Given the description of an element on the screen output the (x, y) to click on. 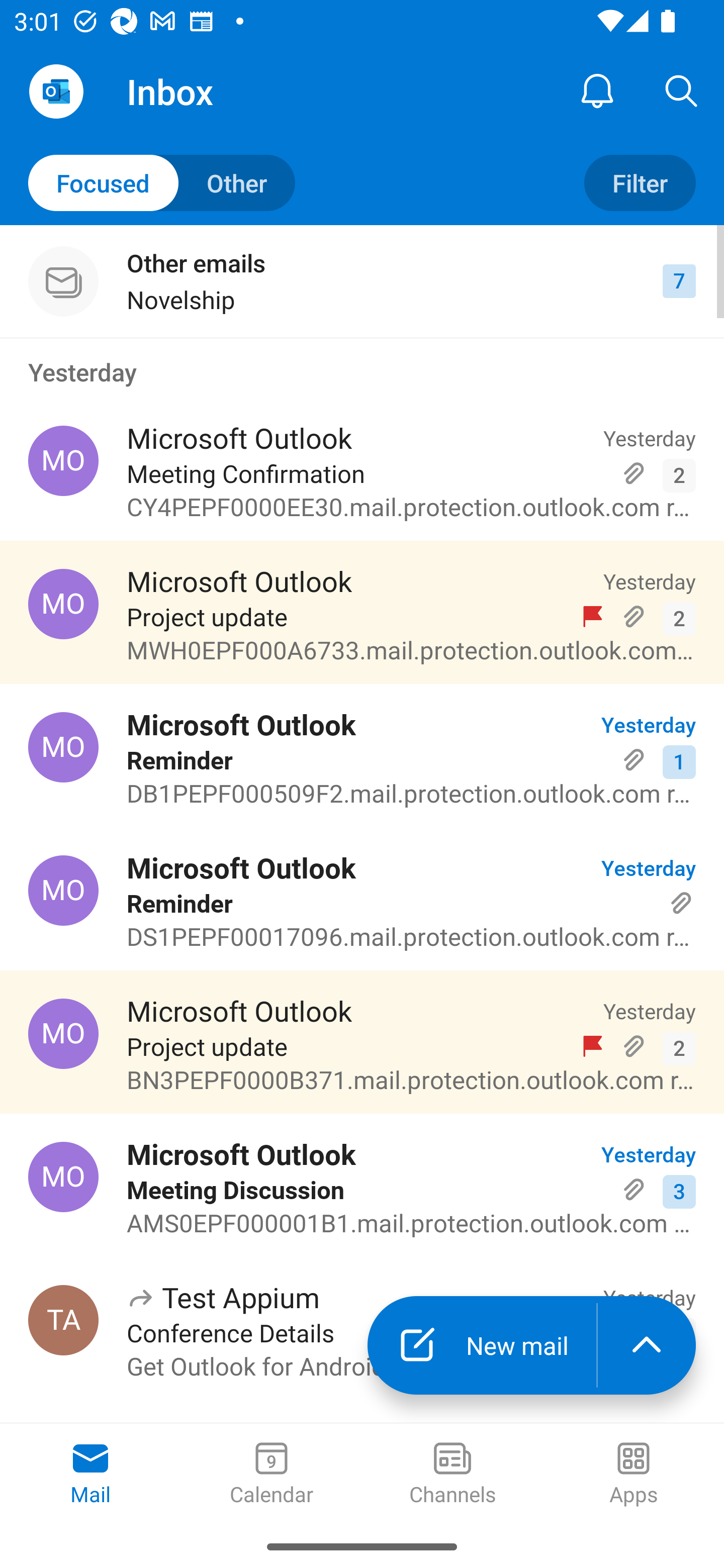
Notification Center (597, 90)
Search, ,  (681, 90)
Open Navigation Drawer (55, 91)
Toggle to other mails (161, 183)
Filter (639, 183)
Other emails Novelship 7 (362, 281)
Test Appium, testappium002@outlook.com (63, 1319)
New mail (481, 1344)
launch the extended action menu (646, 1344)
Calendar (271, 1474)
Channels (452, 1474)
Apps (633, 1474)
